Given the description of an element on the screen output the (x, y) to click on. 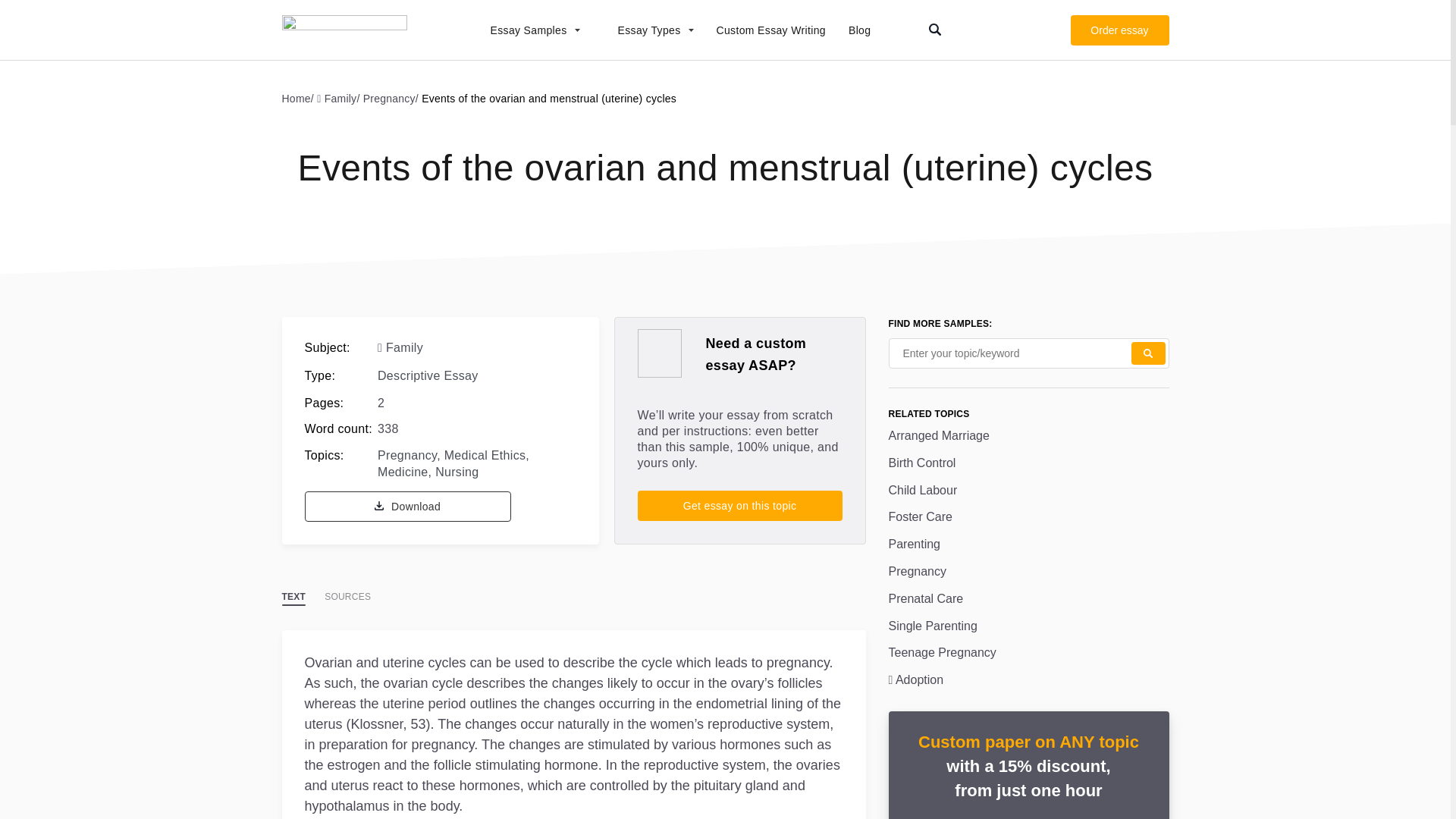
Search (1148, 353)
Go to the Pregnancy Example Category archives. (392, 97)
Essay Types (648, 30)
Essay Samples (526, 30)
Go to Examples. (299, 97)
